Given the description of an element on the screen output the (x, y) to click on. 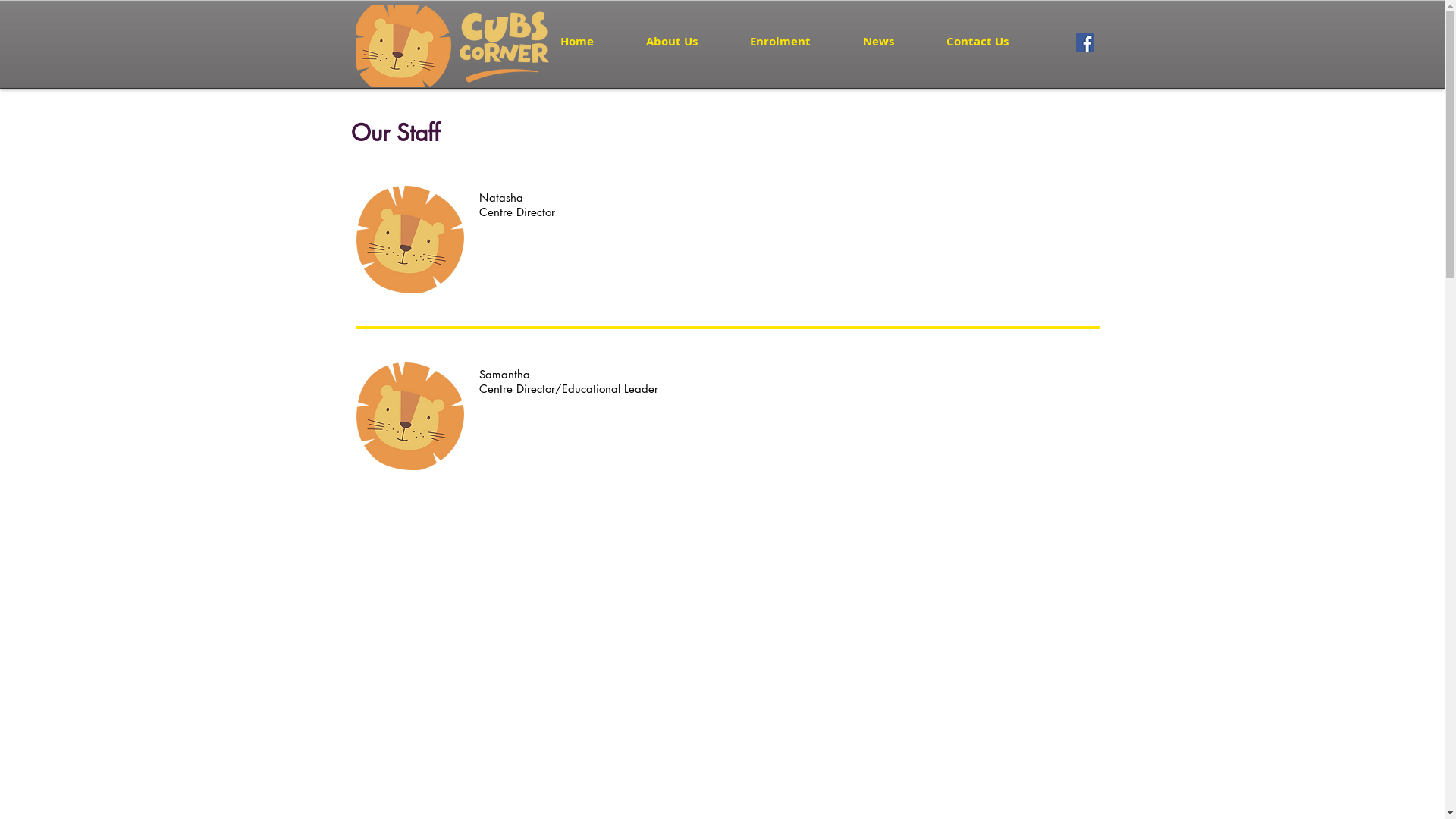
head.png Element type: hover (410, 416)
Contact Us Element type: text (991, 41)
News Element type: text (892, 41)
Home Element type: text (591, 41)
About Us Element type: text (685, 41)
Enrolment Element type: text (794, 41)
head.png Element type: hover (410, 239)
